Given the description of an element on the screen output the (x, y) to click on. 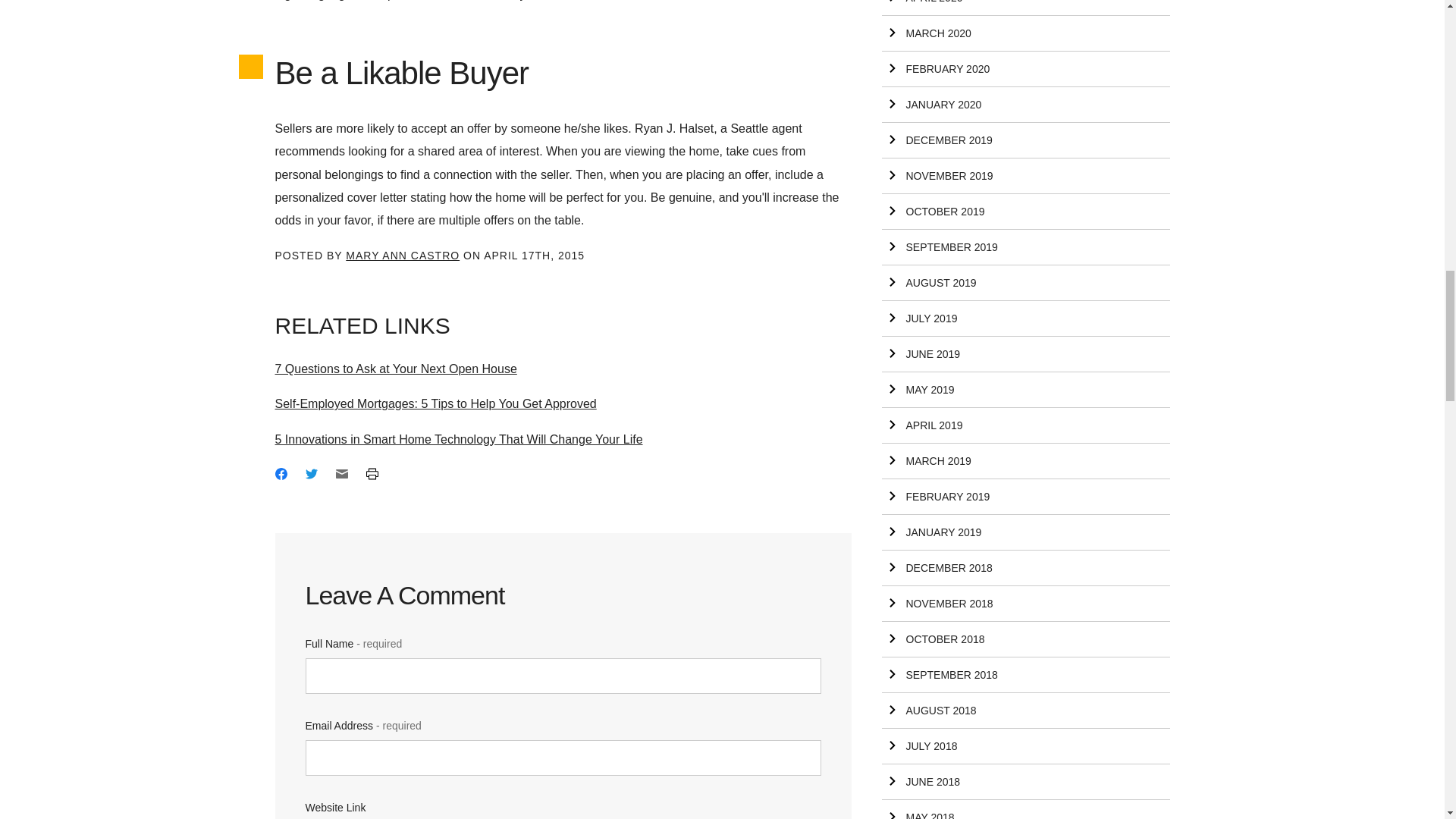
FACEBOOK SHARE THIS POST ON FACEBOOK (280, 473)
Send a link to post via Email (340, 473)
Tweet this post on Twitter (310, 473)
7 Questions to Ask at Your Next Open House (395, 368)
TWITTER TWEET THIS POST ON TWITTER (310, 473)
Self-Employed Mortgages: 5 Tips to Help You Get Approved (435, 403)
Share this post on Facebook (280, 473)
Opens new window with print ready page (371, 473)
EMAIL SEND A LINK TO POST VIA EMAIL (340, 473)
